Given the description of an element on the screen output the (x, y) to click on. 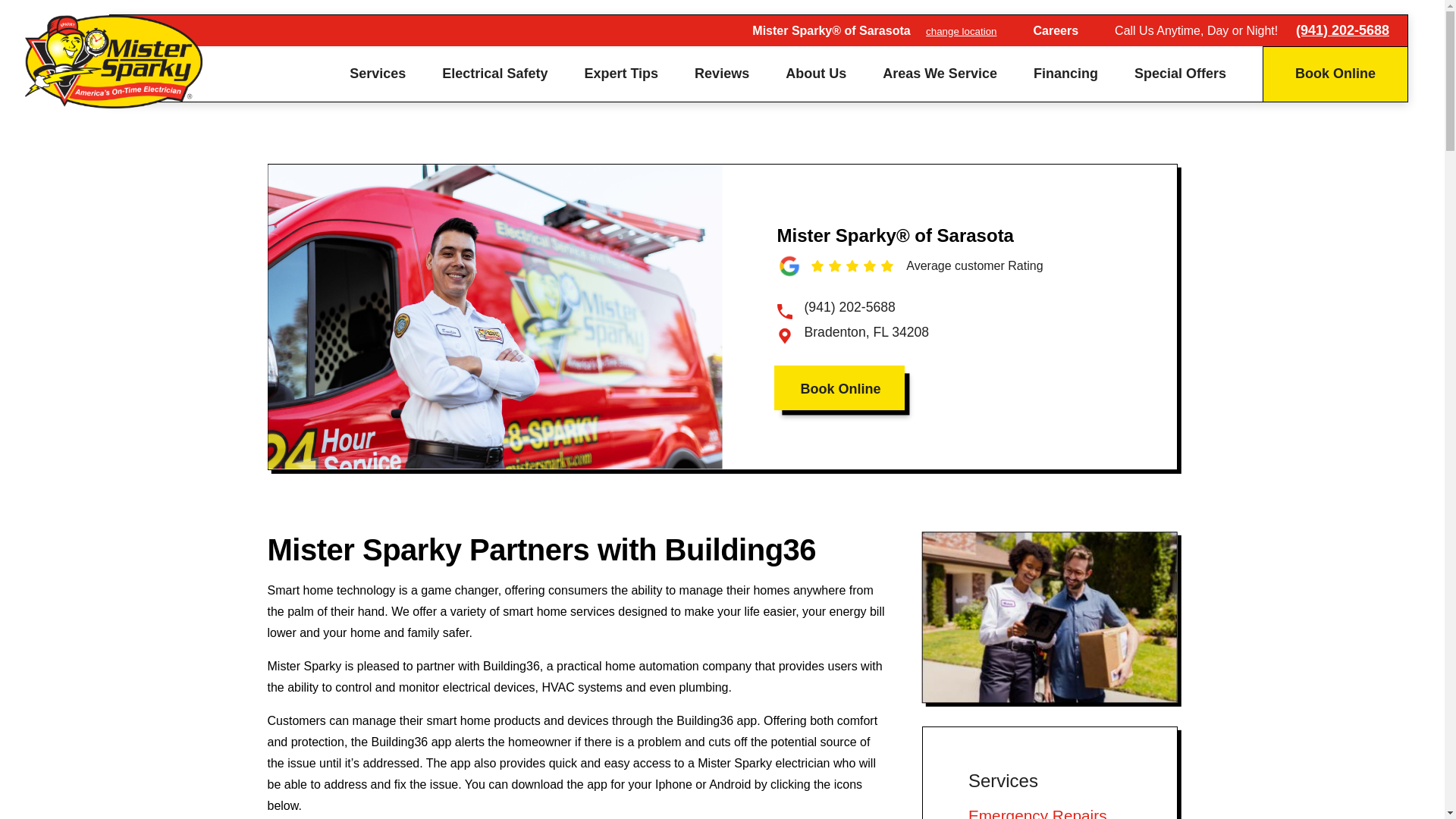
Careers (1055, 30)
Services (377, 73)
change location (960, 30)
